Given the description of an element on the screen output the (x, y) to click on. 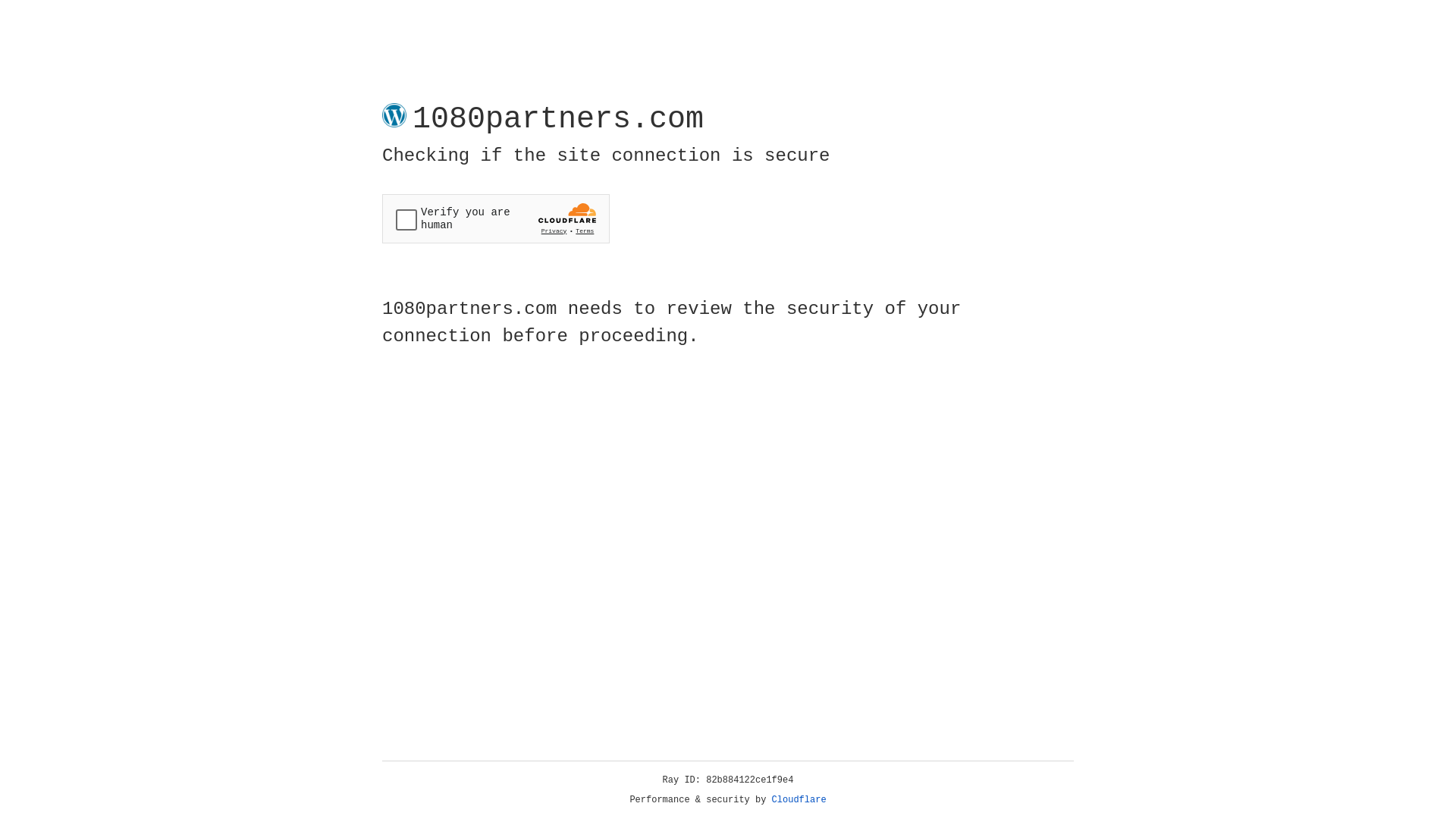
Cloudflare Element type: text (798, 799)
Widget containing a Cloudflare security challenge Element type: hover (495, 218)
